Given the description of an element on the screen output the (x, y) to click on. 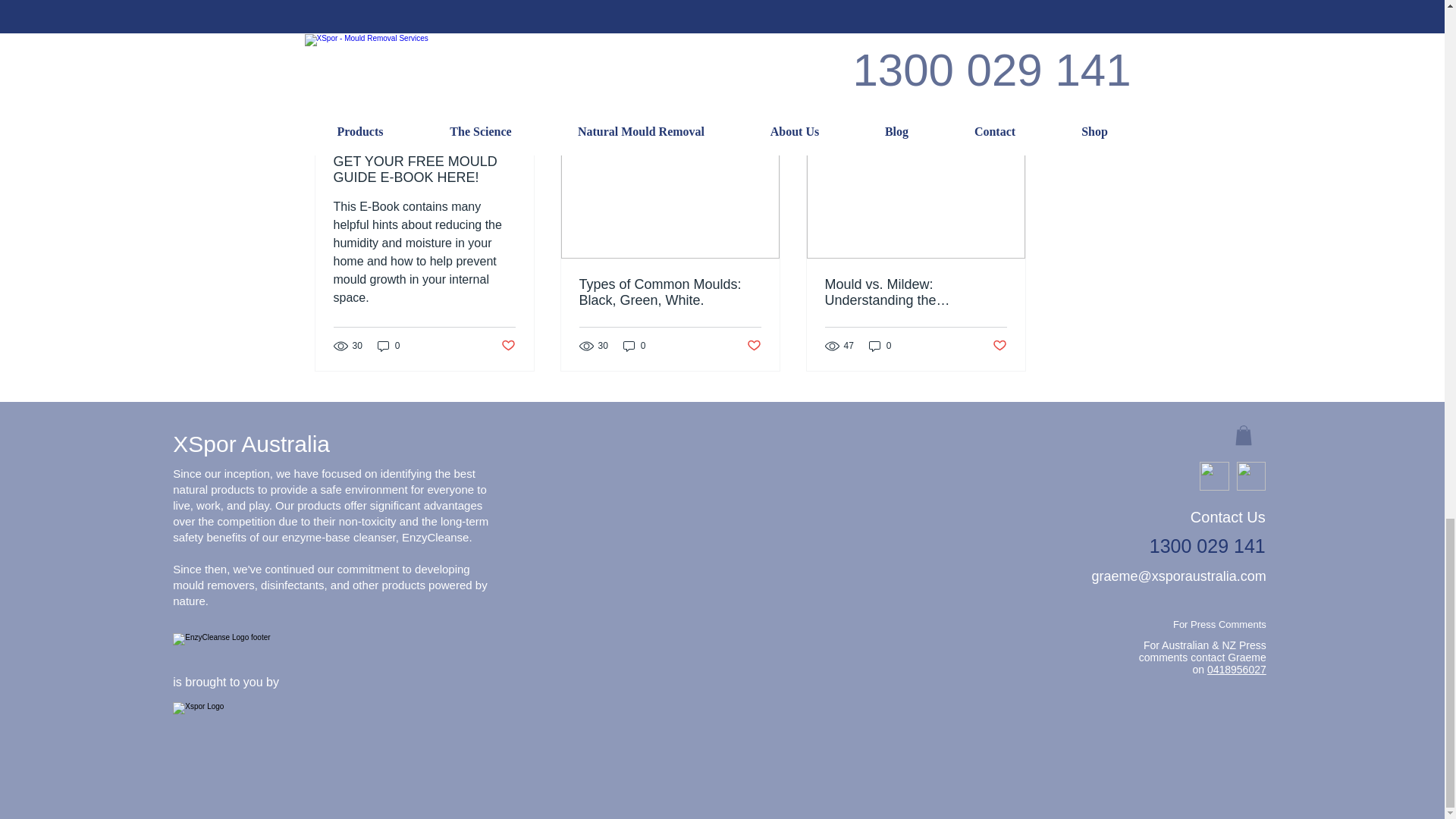
0 (634, 345)
Types of Common Moulds: Black, Green, White. (670, 292)
Post not marked as liked (752, 345)
See All (1010, 108)
Post not marked as liked (998, 345)
Post not marked as liked (507, 345)
0 (388, 345)
Post not marked as liked (944, 26)
GET YOUR FREE MOULD GUIDE E-BOOK HERE! (424, 169)
0 (880, 345)
